Given the description of an element on the screen output the (x, y) to click on. 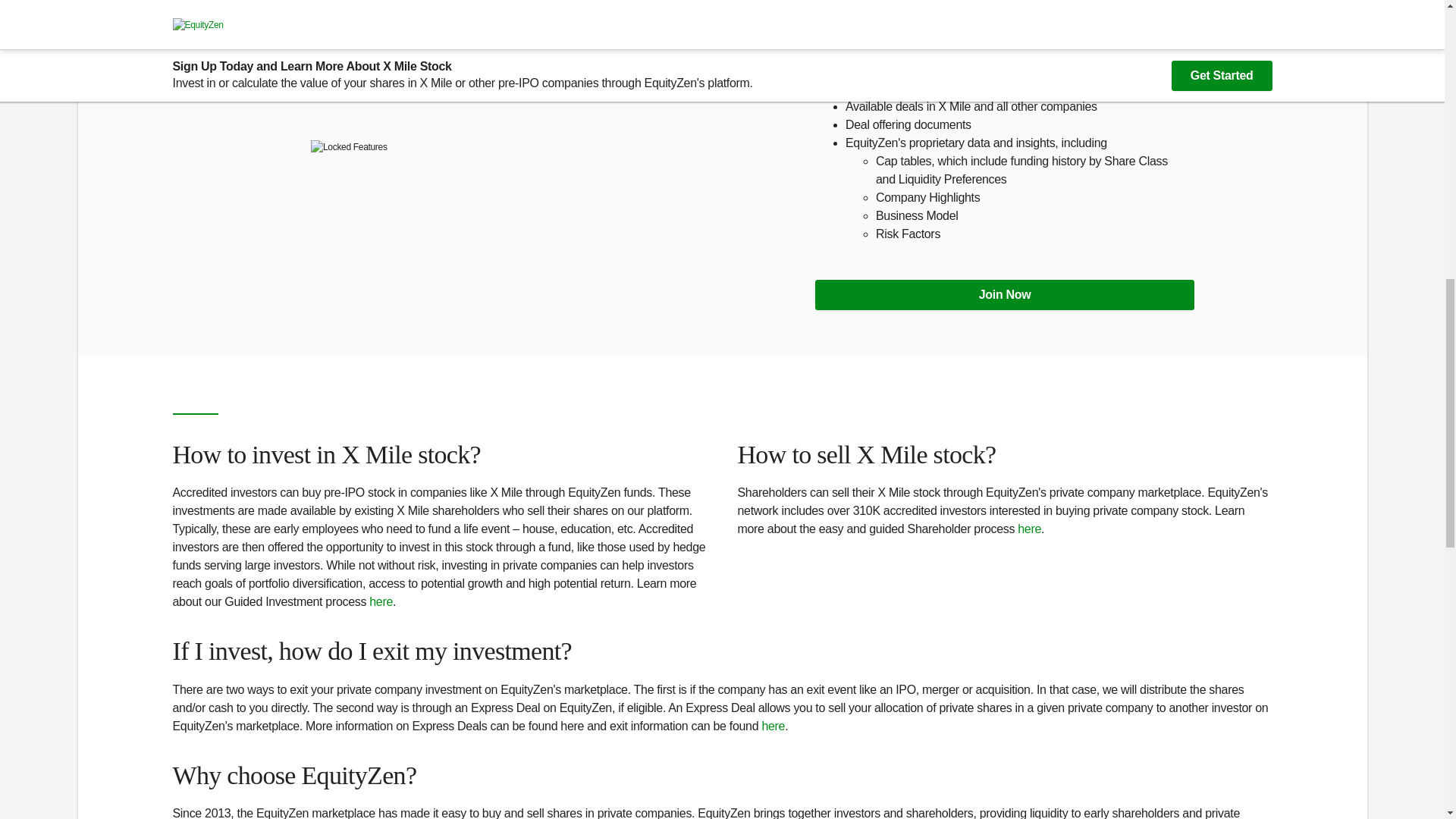
here (381, 601)
here (1029, 528)
here (772, 725)
Join Now (1004, 294)
